Given the description of an element on the screen output the (x, y) to click on. 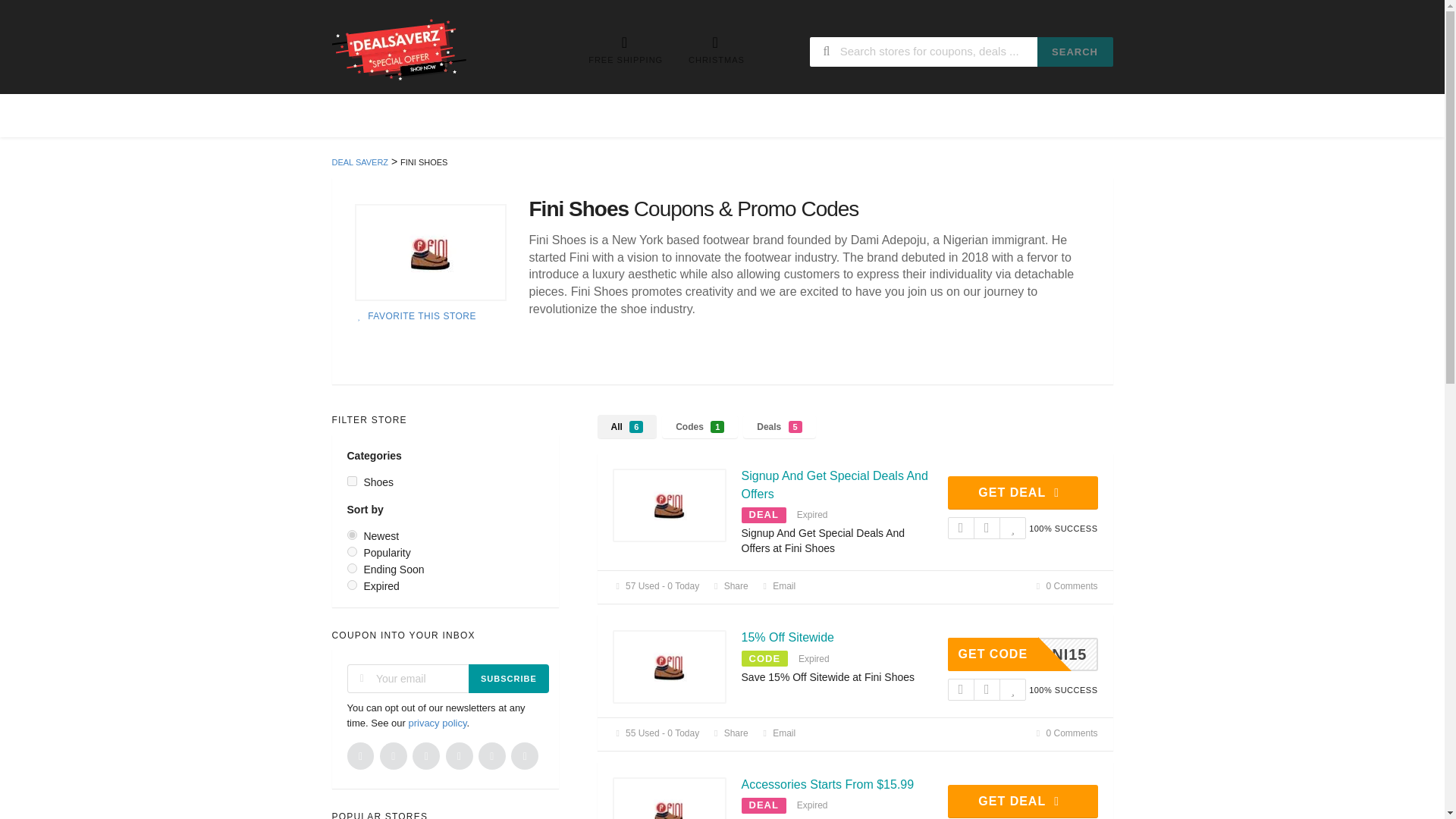
fini shoes (430, 252)
fini shoes (669, 666)
CHRISTMAS (716, 49)
SEARCH (1074, 51)
GET DEAL (1022, 492)
All 6 (627, 426)
FAVORITES (1018, 115)
Share (729, 585)
FREE SHIPPING (625, 49)
